Given the description of an element on the screen output the (x, y) to click on. 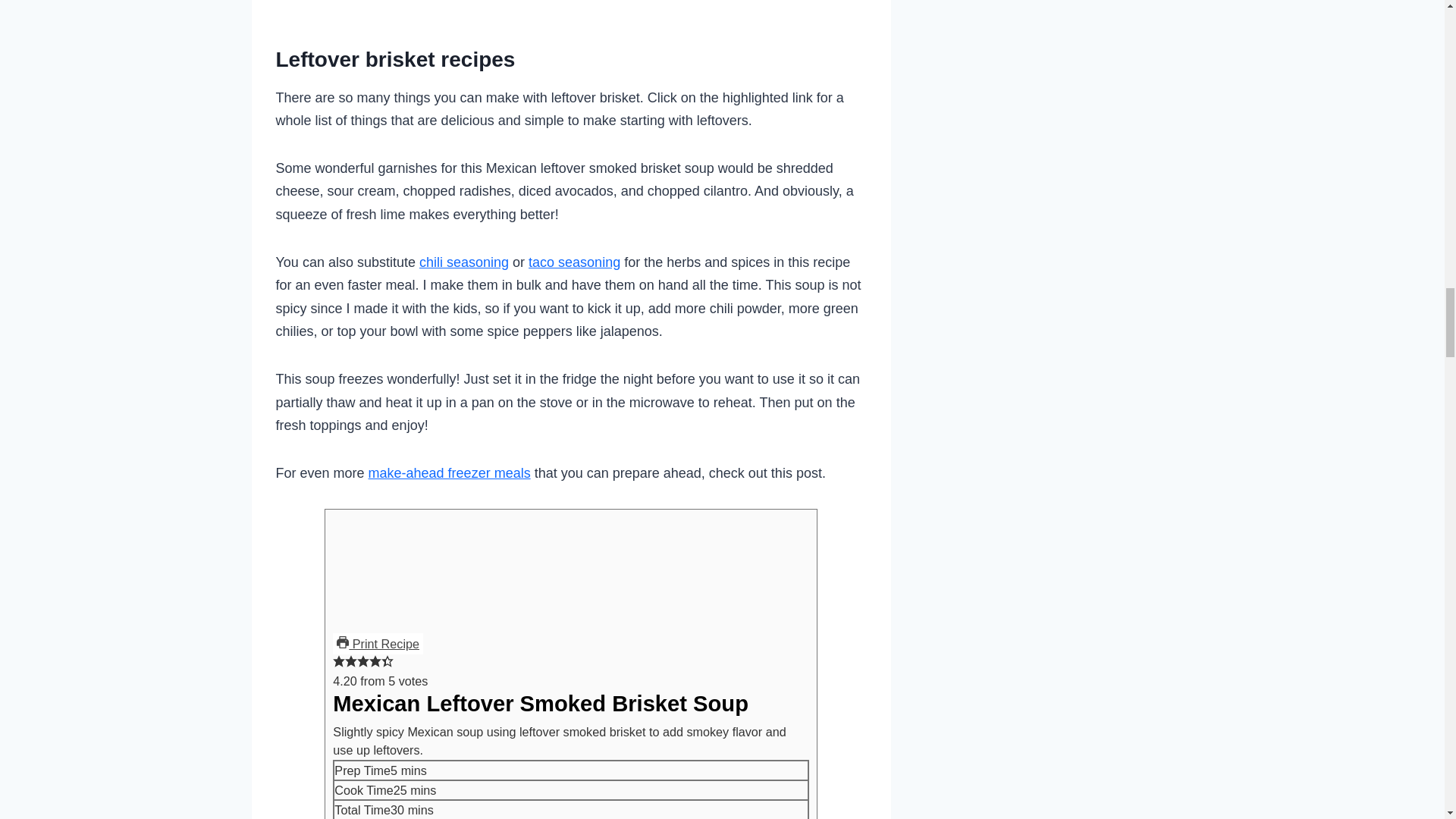
taco seasoning (574, 262)
chili seasoning (463, 262)
make-ahead freezer meals (449, 473)
Leftover brisket recipes (395, 59)
Print Recipe (378, 643)
